Given the description of an element on the screen output the (x, y) to click on. 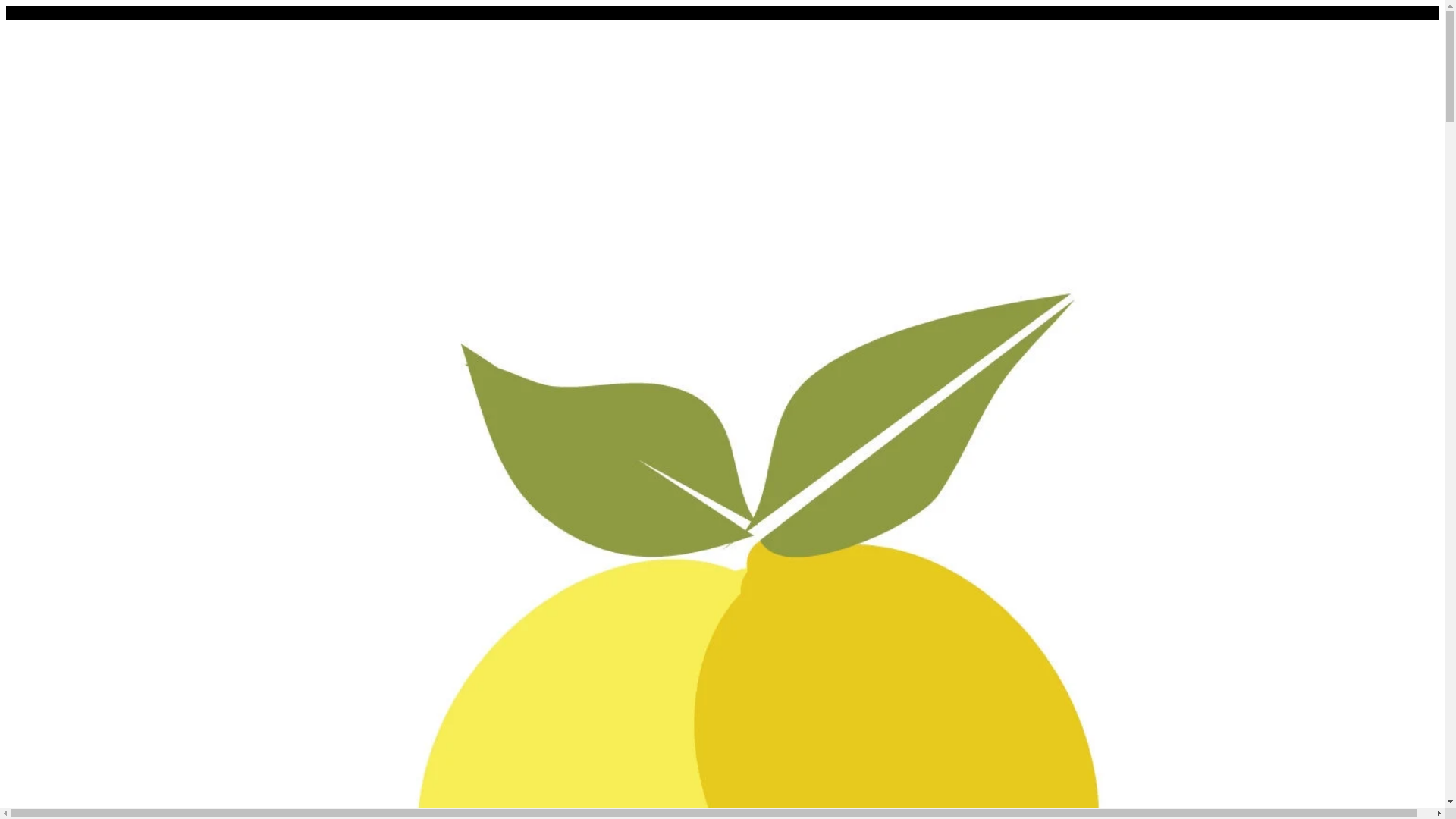
Find more from Lemons Plus Life at our Online Boutique! (148, 11)
